Given the description of an element on the screen output the (x, y) to click on. 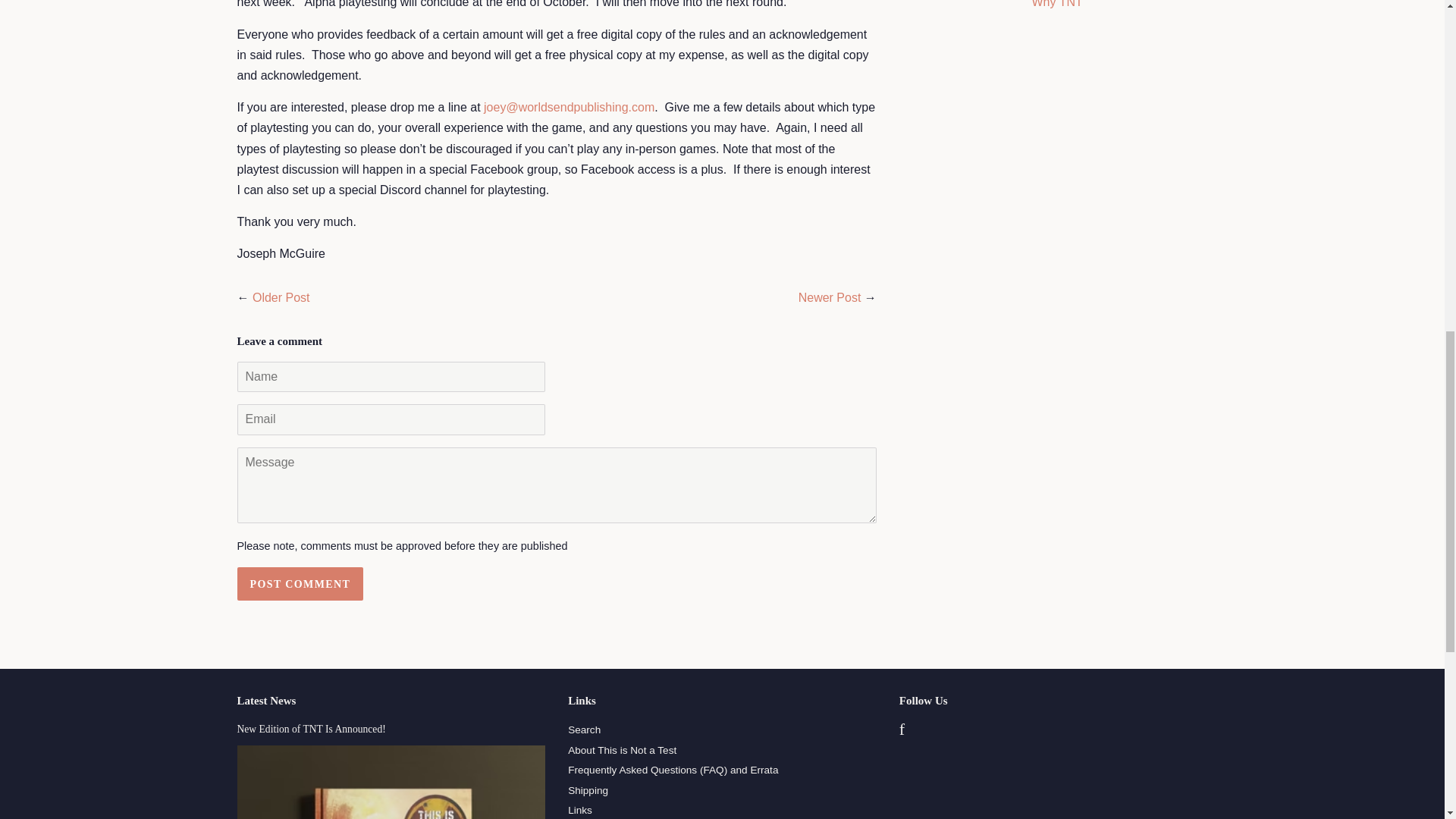
Shipping (587, 790)
New Edition of TNT Is Announced! (310, 728)
Post comment (298, 583)
Newer Post (829, 297)
Why TNT (1055, 4)
Show articles tagged Why TNT (1055, 4)
Latest News (265, 700)
Search (583, 729)
Older Post (280, 297)
About This is Not a Test (622, 749)
Links (579, 809)
Post comment (298, 583)
